Given the description of an element on the screen output the (x, y) to click on. 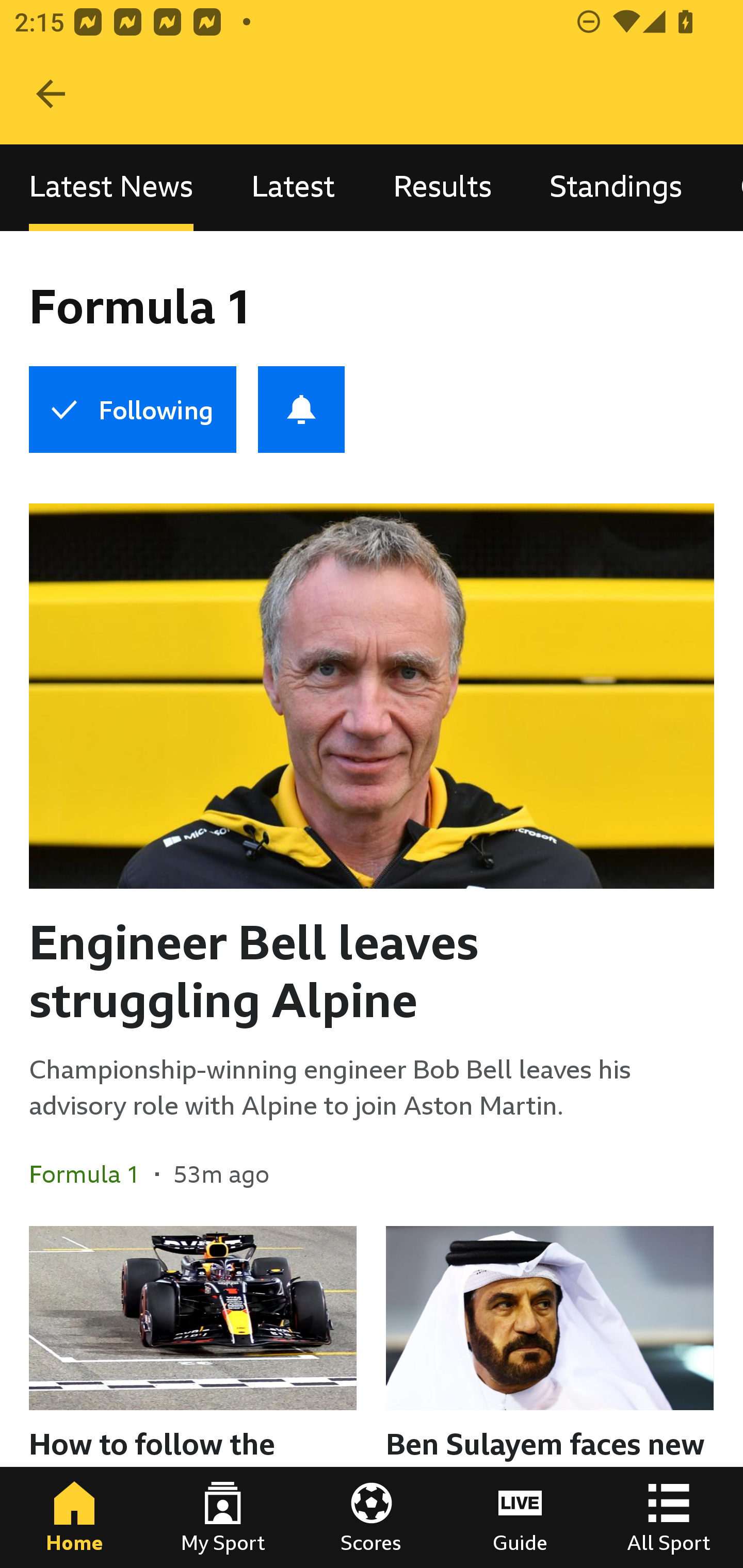
Navigate up (50, 93)
Latest News, selected Latest News (111, 187)
Latest (293, 187)
Results (442, 187)
Standings (615, 187)
Following Formula 1 Following (132, 409)
Push notifications for Formula 1 (300, 409)
My Sport (222, 1517)
Scores (371, 1517)
Guide (519, 1517)
All Sport (668, 1517)
